Given the description of an element on the screen output the (x, y) to click on. 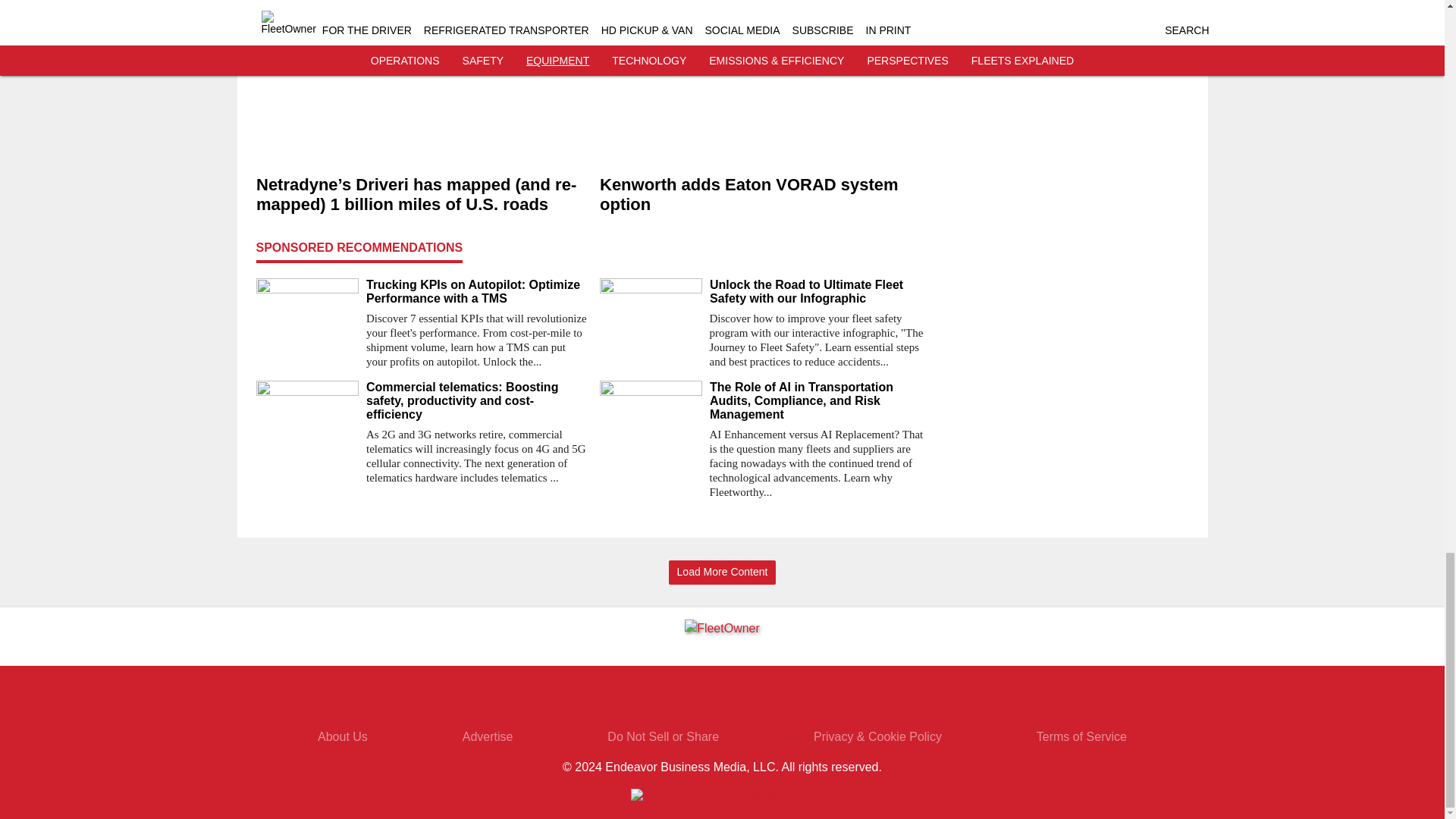
Kenworth adds Eaton VORAD system option (764, 195)
Trucking KPIs on Autopilot: Optimize Performance with a TMS (476, 291)
